Given the description of an element on the screen output the (x, y) to click on. 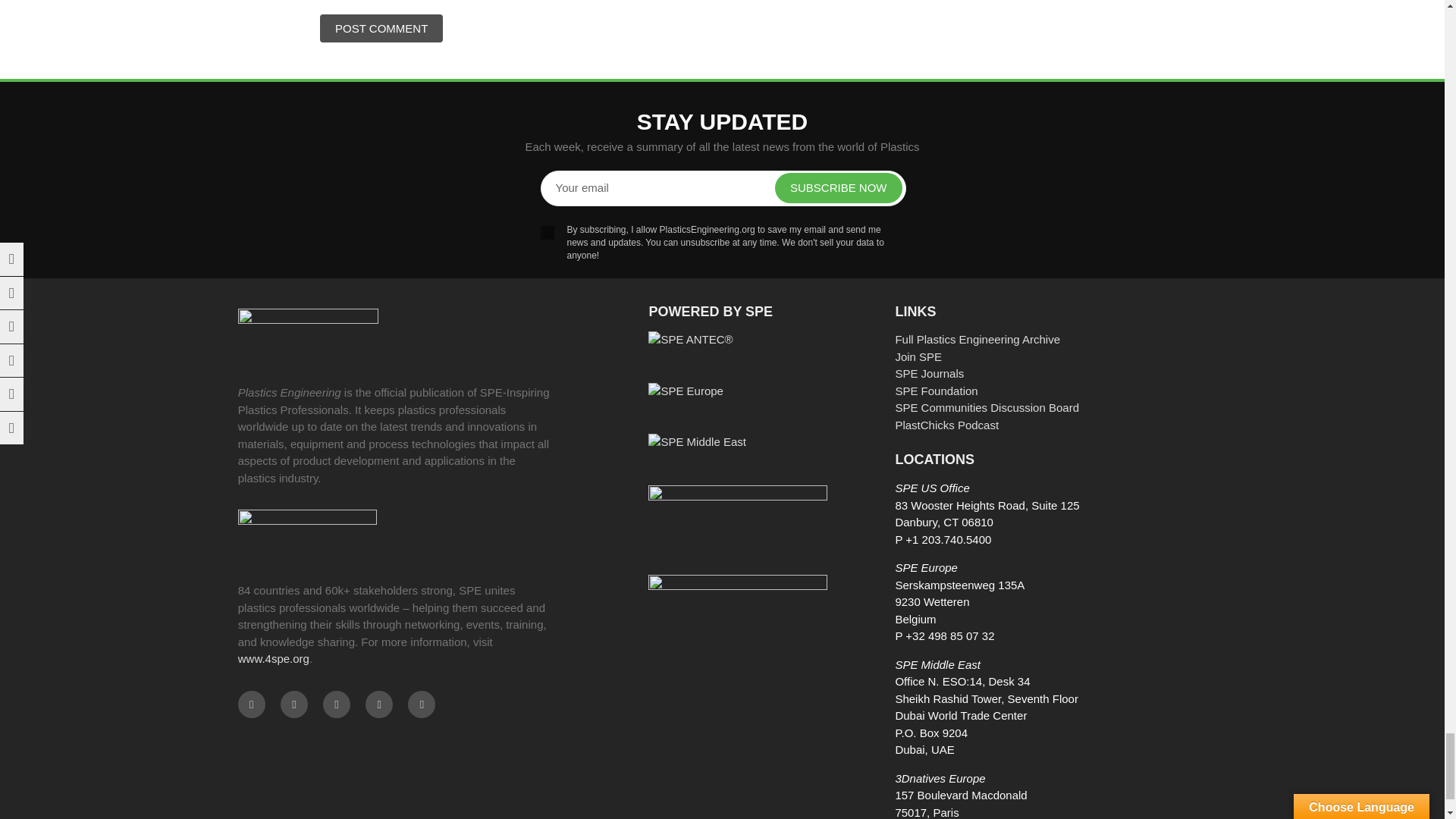
Post Comment (381, 28)
